Given the description of an element on the screen output the (x, y) to click on. 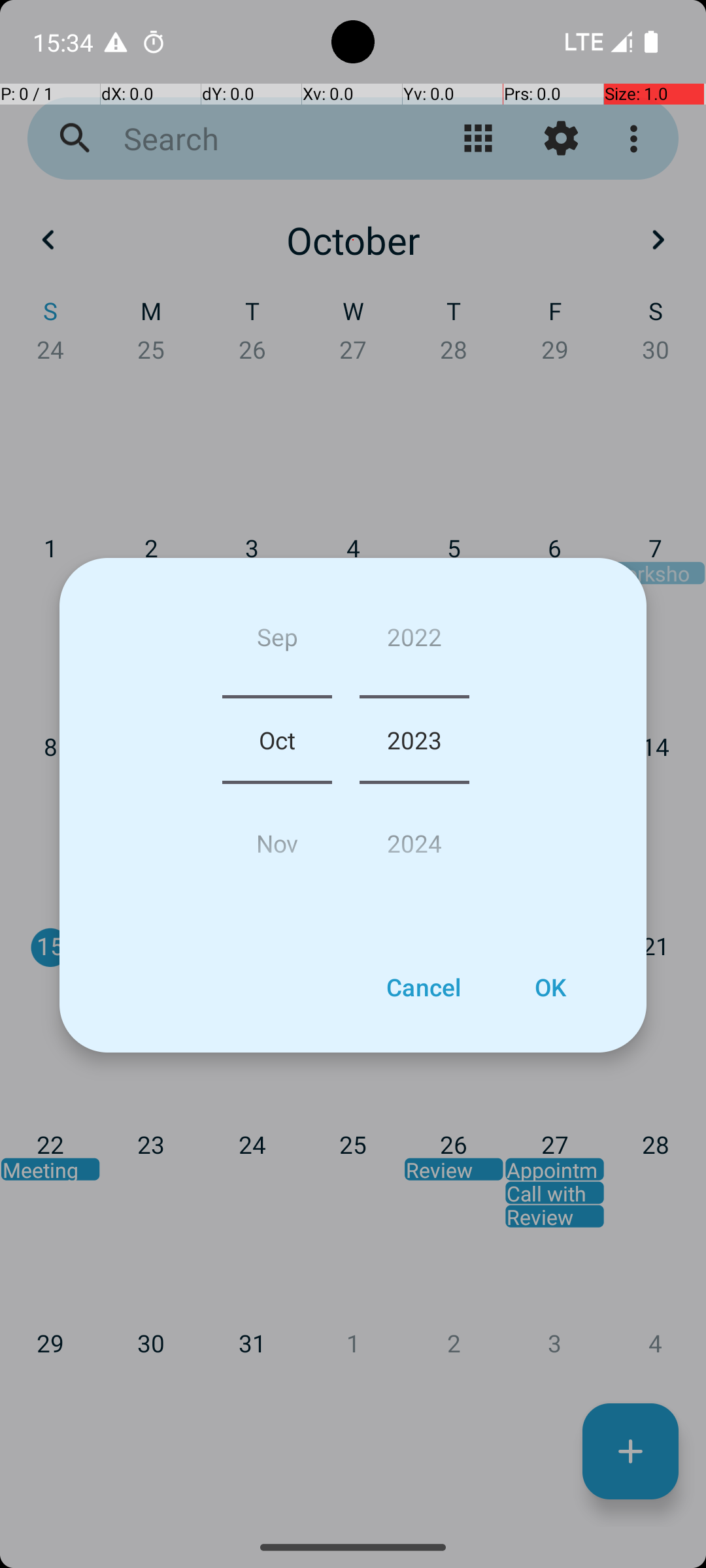
Sep Element type: android.widget.Button (277, 641)
Oct Element type: android.widget.EditText (277, 739)
Nov Element type: android.widget.Button (277, 837)
2022 Element type: android.widget.Button (414, 641)
2024 Element type: android.widget.Button (414, 837)
